Given the description of an element on the screen output the (x, y) to click on. 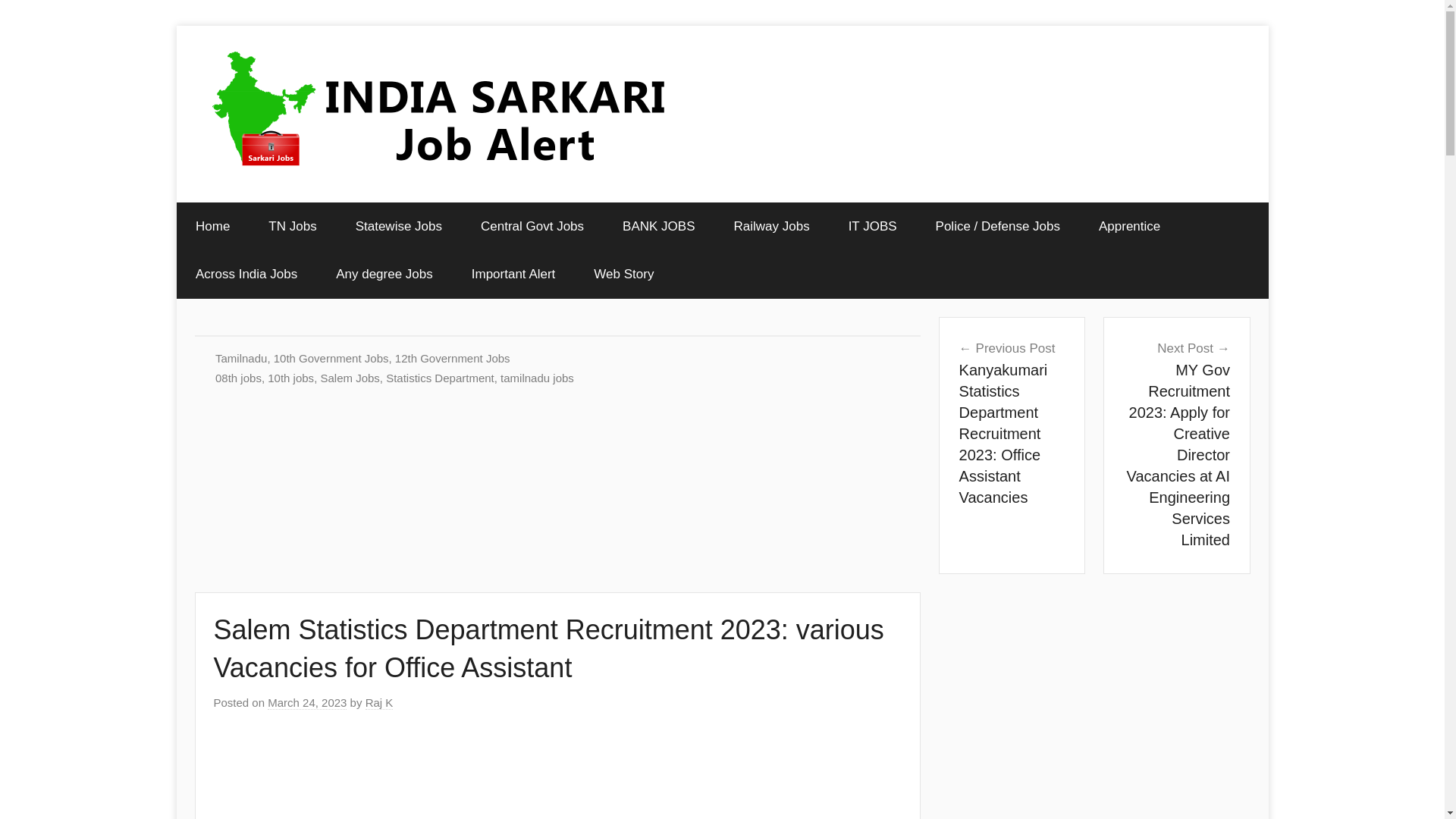
tamilnadu jobs (536, 377)
Important Alert (513, 274)
12th Government Jobs (452, 358)
Home (212, 225)
TN Jobs (292, 225)
Salem Jobs (349, 377)
Railway Jobs (771, 225)
Across India Jobs (245, 274)
IT JOBS (871, 225)
March 24, 2023 (306, 703)
Central Govt Jobs (531, 225)
08th jobs (238, 377)
Statistics Department (440, 377)
Web Story (623, 274)
